Given the description of an element on the screen output the (x, y) to click on. 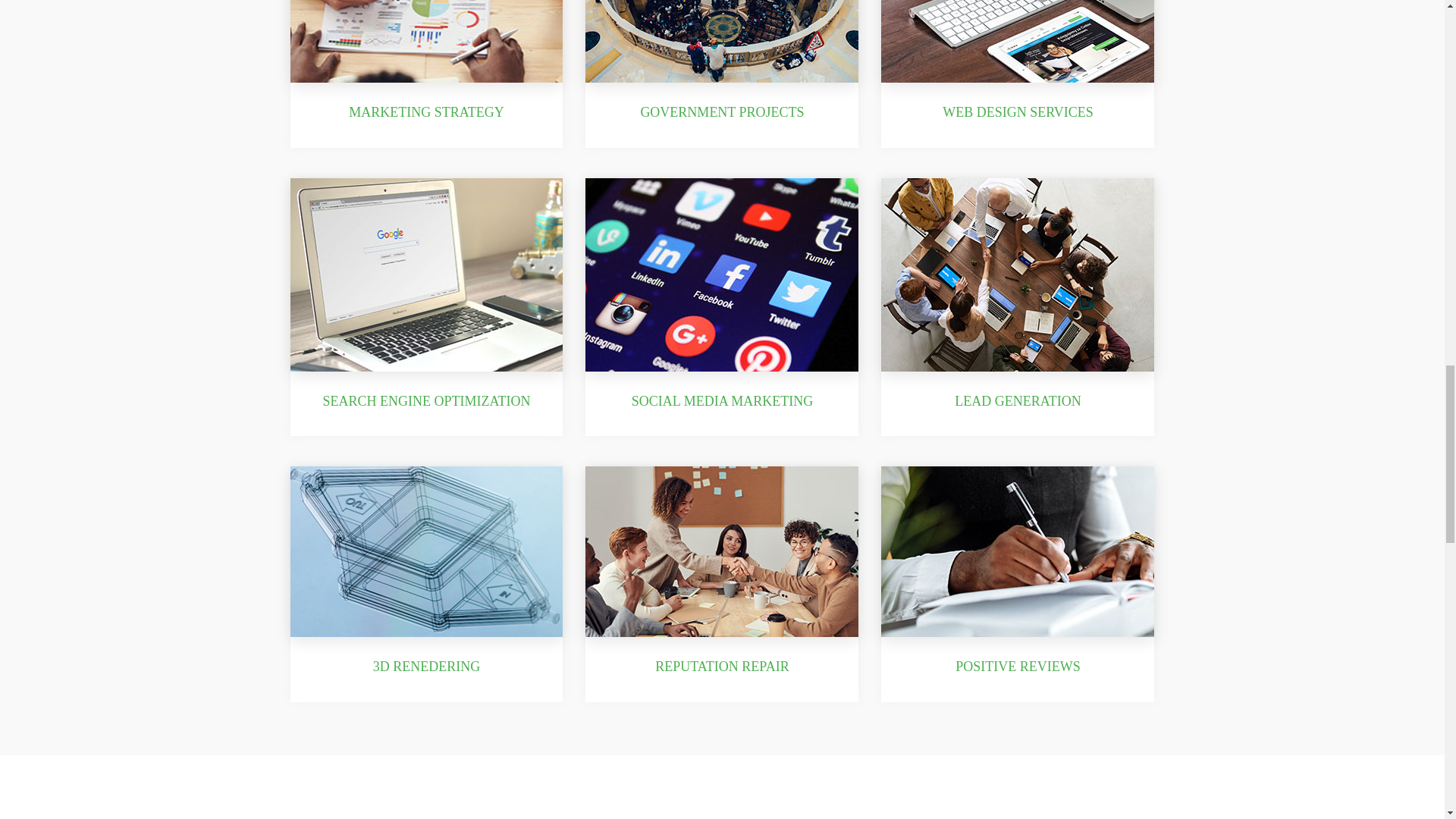
POSITIVE REVIEWS (1017, 666)
3D RENEDERING (426, 666)
GOVERNMENT PROJECTS (721, 111)
SOCIAL MEDIA MARKETING (721, 400)
Government Projects (721, 111)
LEAD GENERATION (1017, 400)
MARKETING STRATEGY (426, 111)
Web Design (1017, 111)
SEARCH ENGINE OPTIMIZATION (427, 400)
WEB DESIGN SERVICES (1017, 111)
3D Rendering (426, 666)
REPUTATION REPAIR (722, 666)
Lead Generation (1017, 400)
Reputation Repair (722, 666)
Social Media (721, 400)
